Given the description of an element on the screen output the (x, y) to click on. 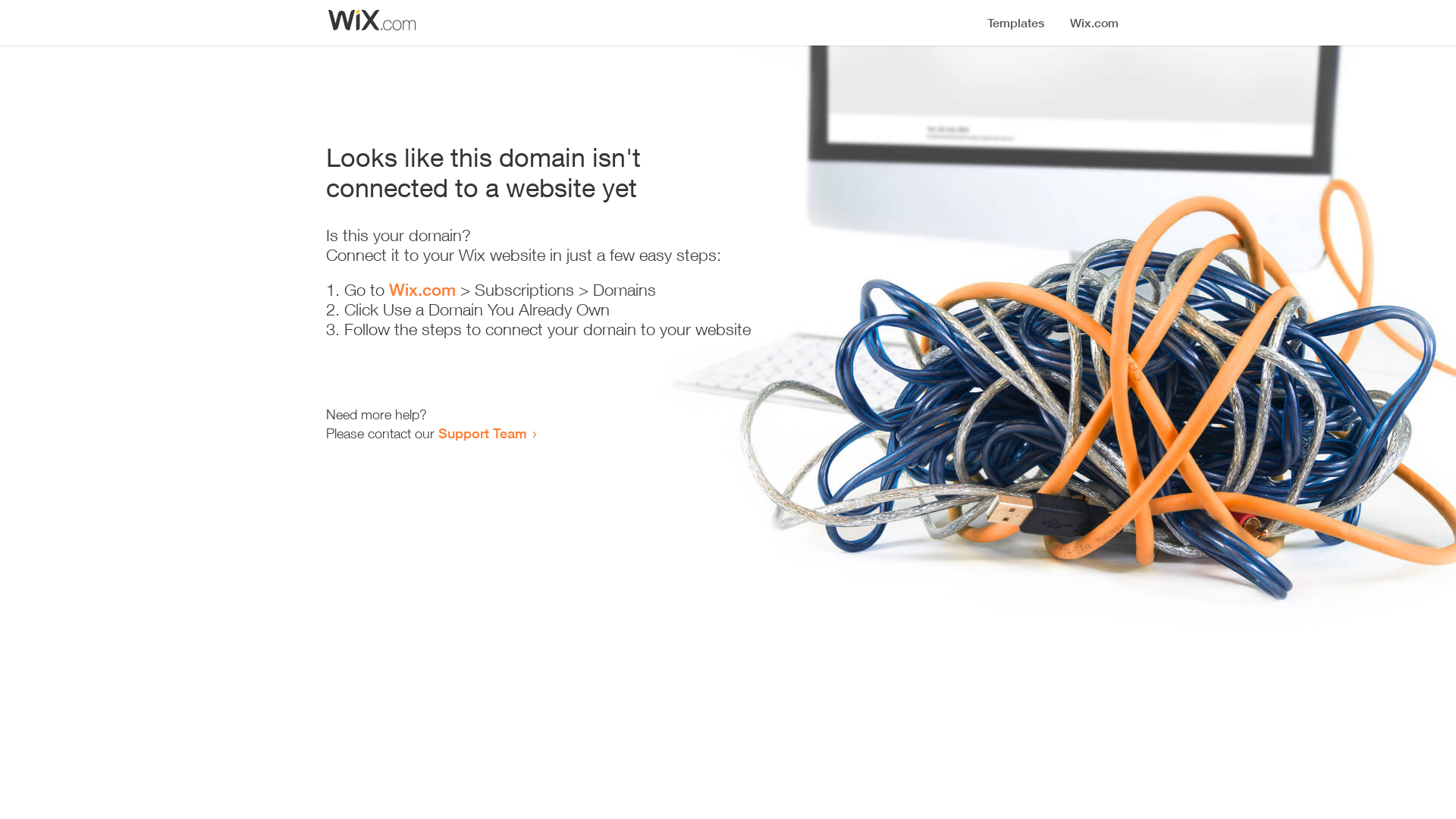
Support Team Element type: text (482, 432)
Wix.com Element type: text (422, 289)
